Given the description of an element on the screen output the (x, y) to click on. 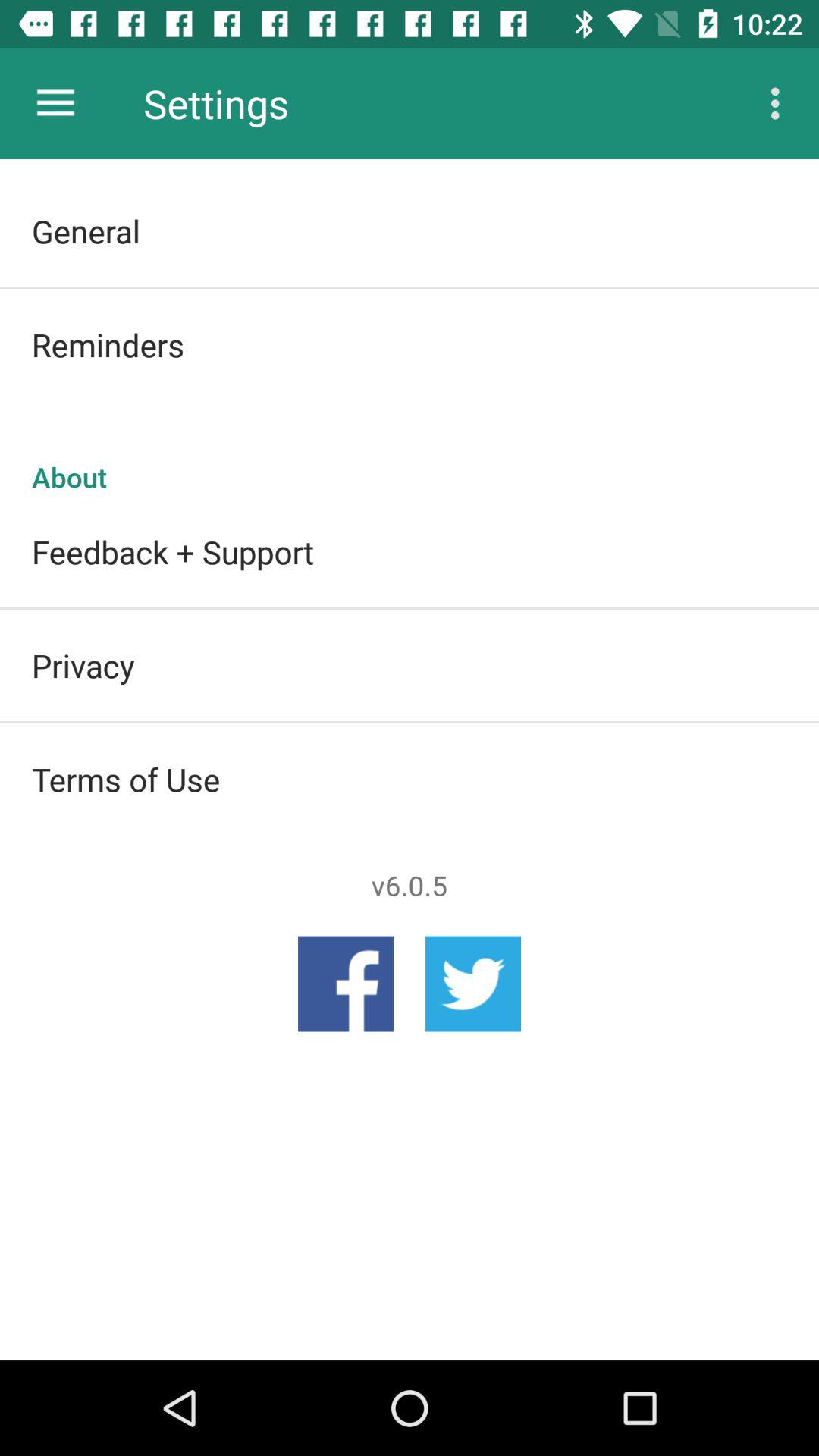
open icon to the right of settings app (779, 103)
